Given the description of an element on the screen output the (x, y) to click on. 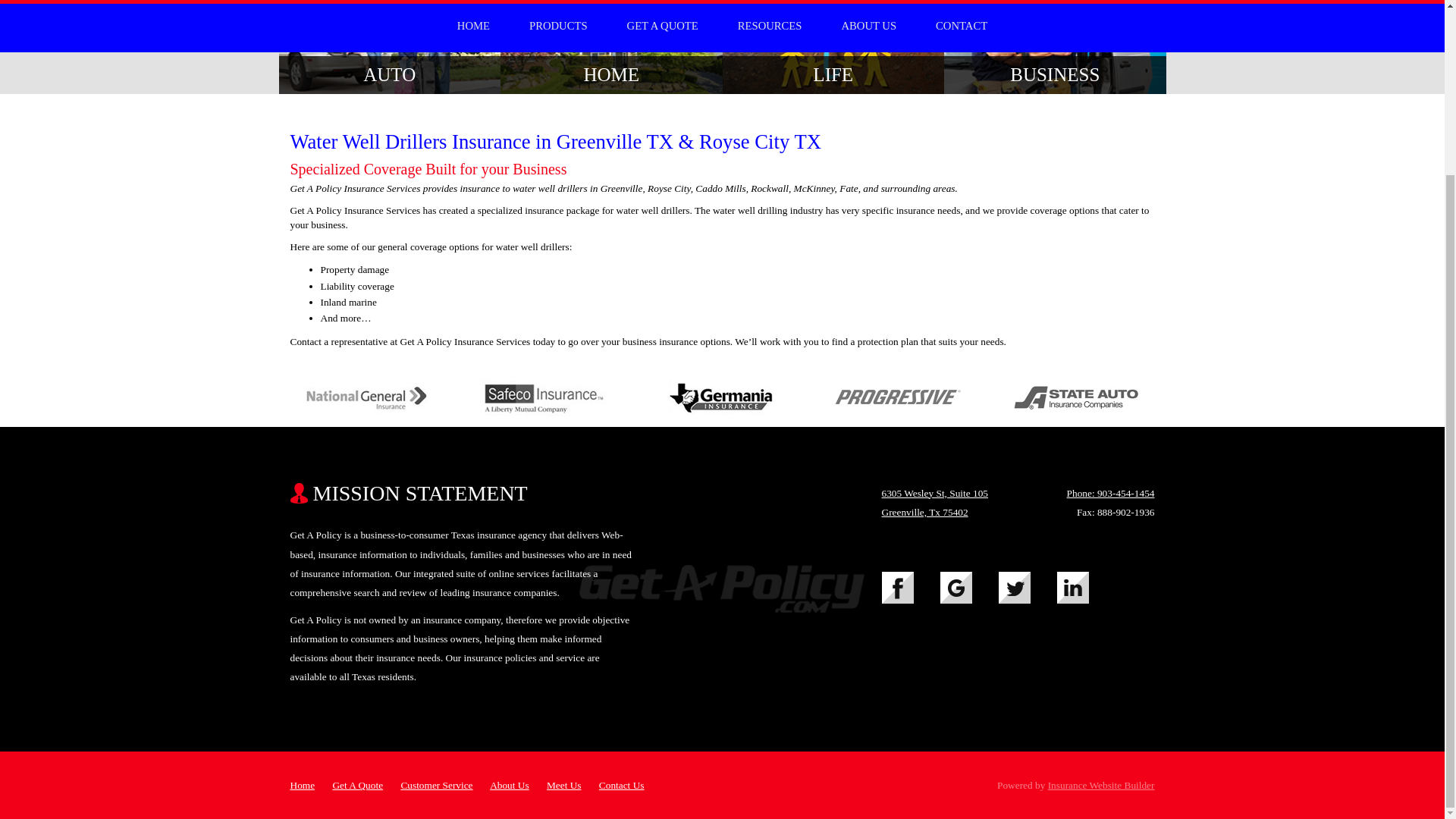
Insurance Website Builder (1101, 785)
